Given the description of an element on the screen output the (x, y) to click on. 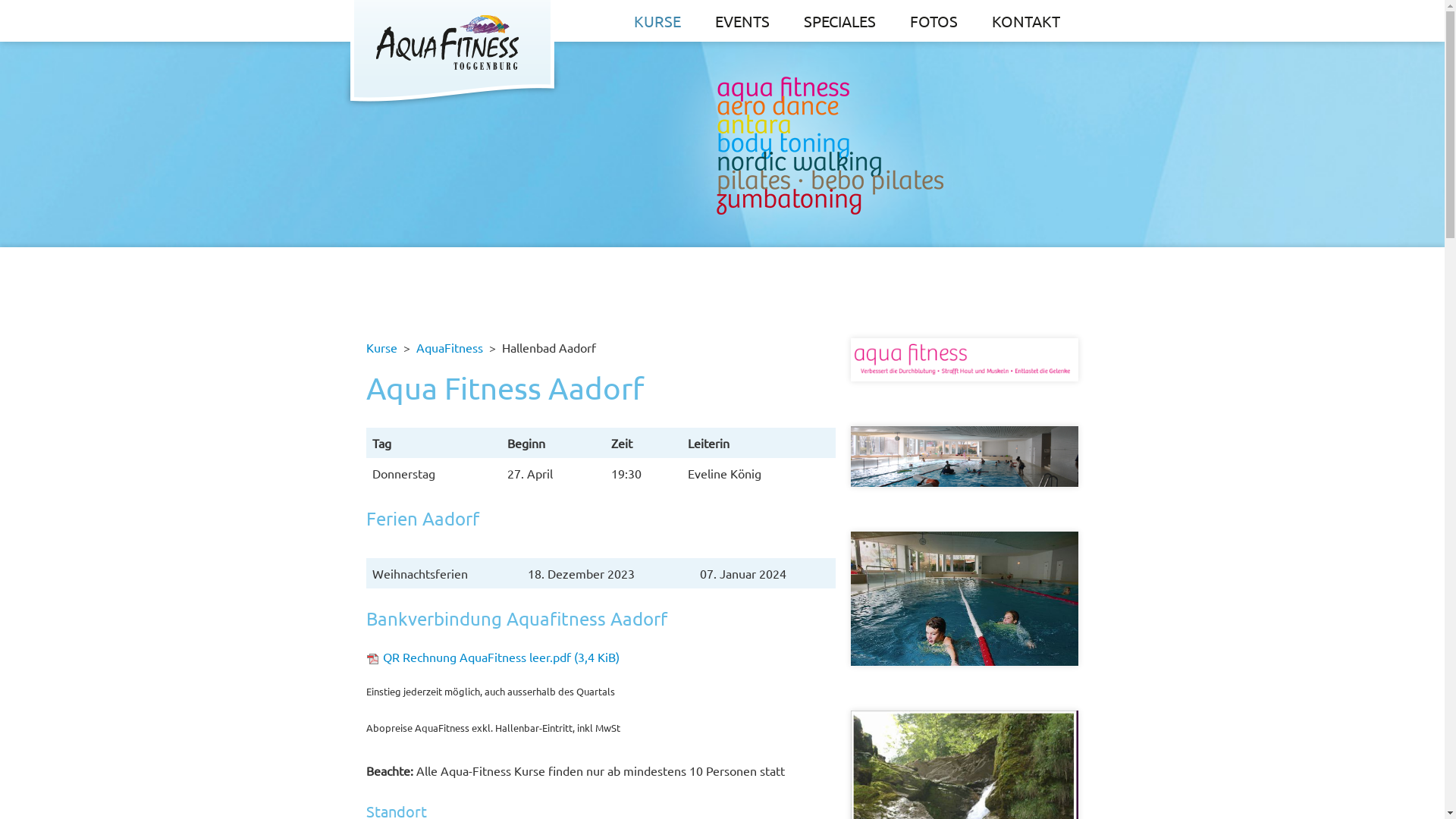
Aqua Fitness Element type: hover (964, 359)
FOTOS Element type: text (933, 20)
Bad Aadorf Element type: hover (964, 456)
EVENTS Element type: text (741, 20)
Bad Aadorf Element type: hover (964, 453)
Aquafitness Toggenburg Element type: hover (825, 153)
Bad Aadorf Element type: hover (964, 596)
AquaFitness Toggenburg Element type: hover (451, 51)
Kurse Element type: text (380, 346)
KONTAKT Element type: text (1025, 20)
AquaFitness Element type: text (448, 346)
SPECIALES Element type: text (839, 20)
QR Rechnung AquaFitness leer.pdf (3,4 KiB) Element type: text (500, 656)
KURSE Element type: text (656, 20)
Bad Aadorf Element type: hover (964, 598)
